Given the description of an element on the screen output the (x, y) to click on. 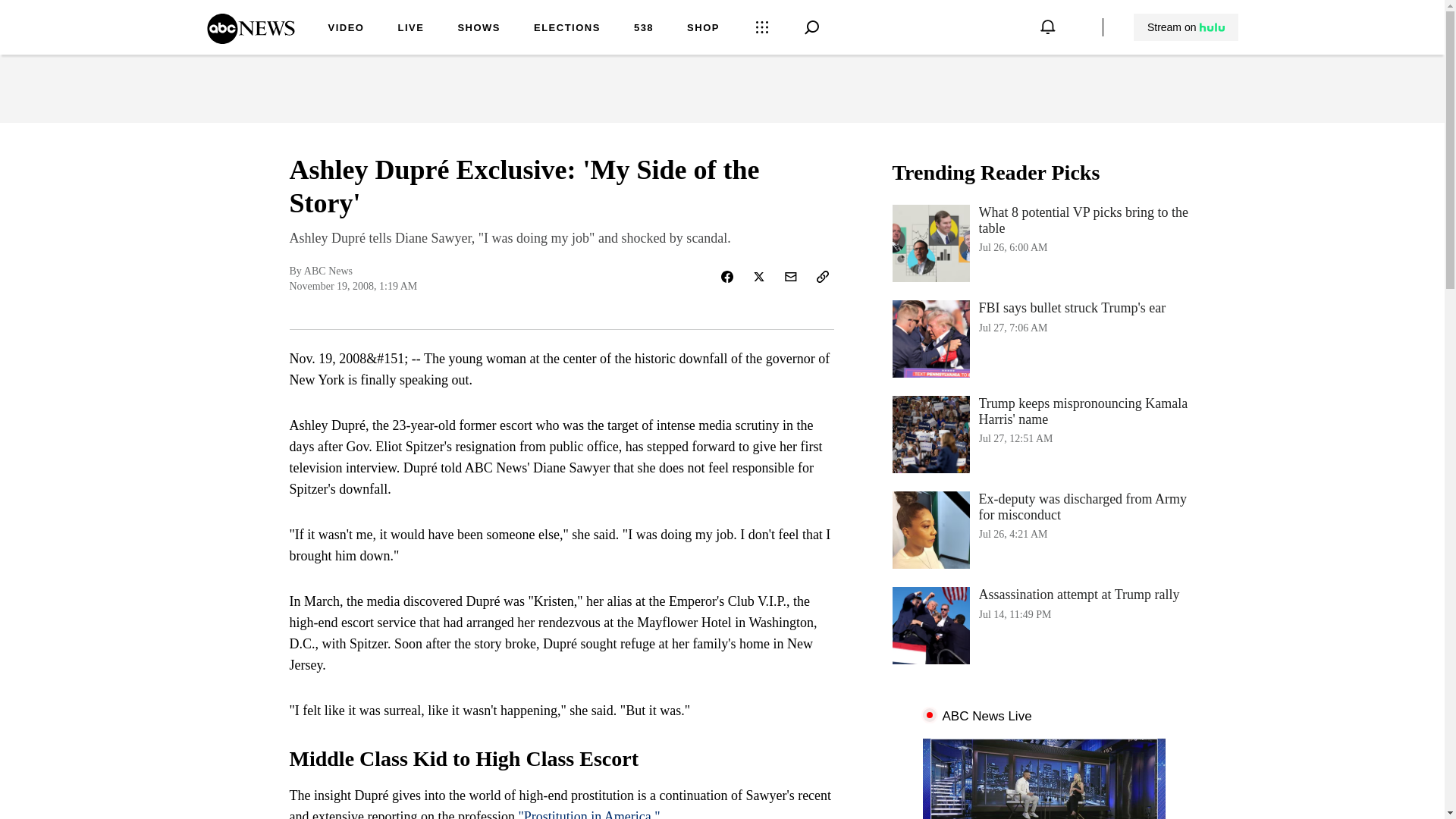
VIDEO (1043, 242)
SHOP (1043, 338)
SHOWS (345, 28)
ELECTIONS (703, 28)
ABC News (478, 28)
"Prostitution in America." (566, 28)
Stream on (250, 38)
Stream on (588, 814)
538 (1185, 27)
LIVE (1186, 26)
